Given the description of an element on the screen output the (x, y) to click on. 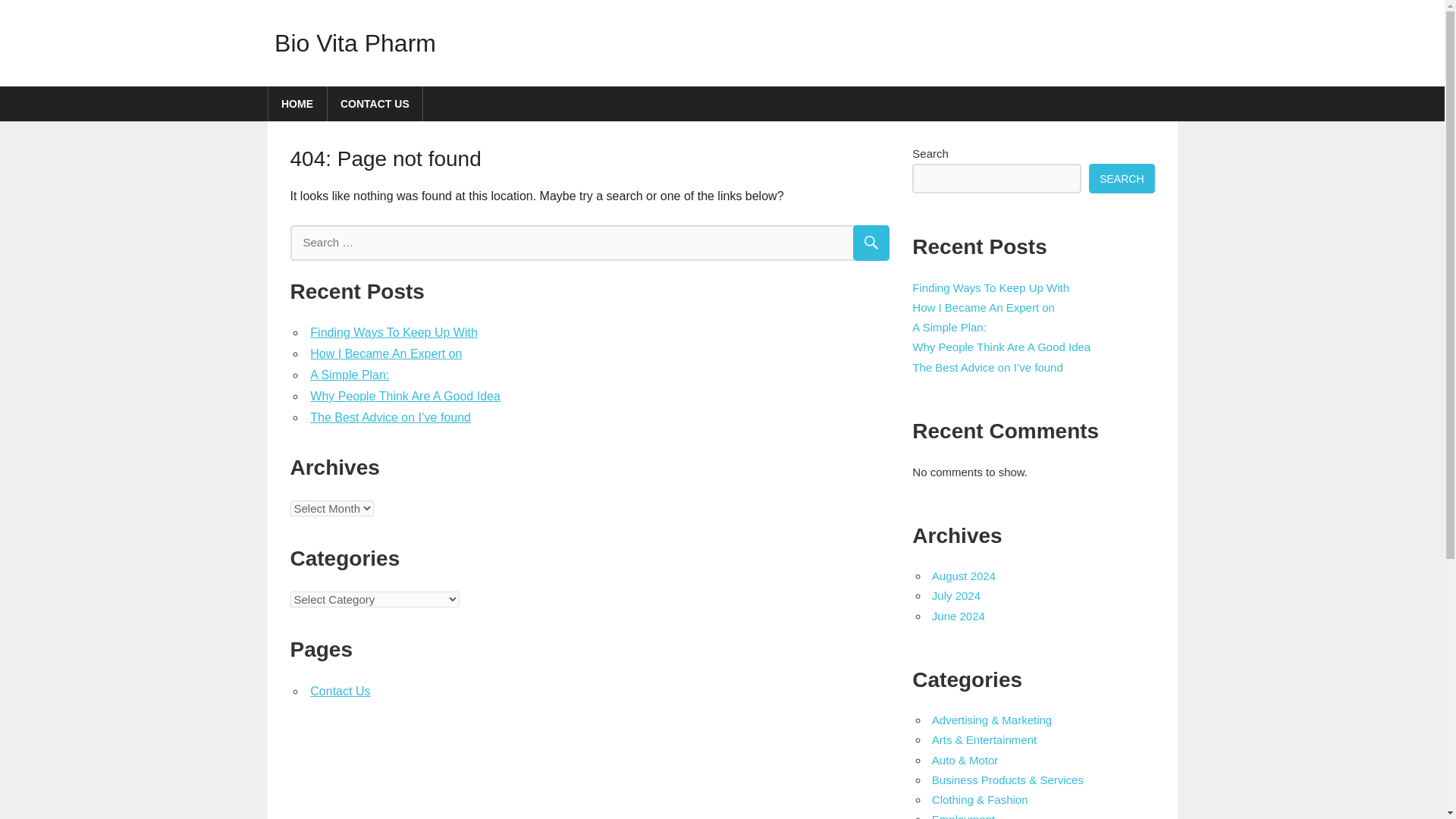
How I Became An Expert on (983, 307)
Finding Ways To Keep Up With (393, 332)
Why People Think Are A Good Idea (405, 395)
HOME (297, 103)
Finding Ways To Keep Up With (990, 287)
A Simple Plan: (349, 374)
CONTACT US (375, 103)
Bio Vita Pharm (355, 42)
Search for: (589, 243)
August 2024 (963, 575)
